Given the description of an element on the screen output the (x, y) to click on. 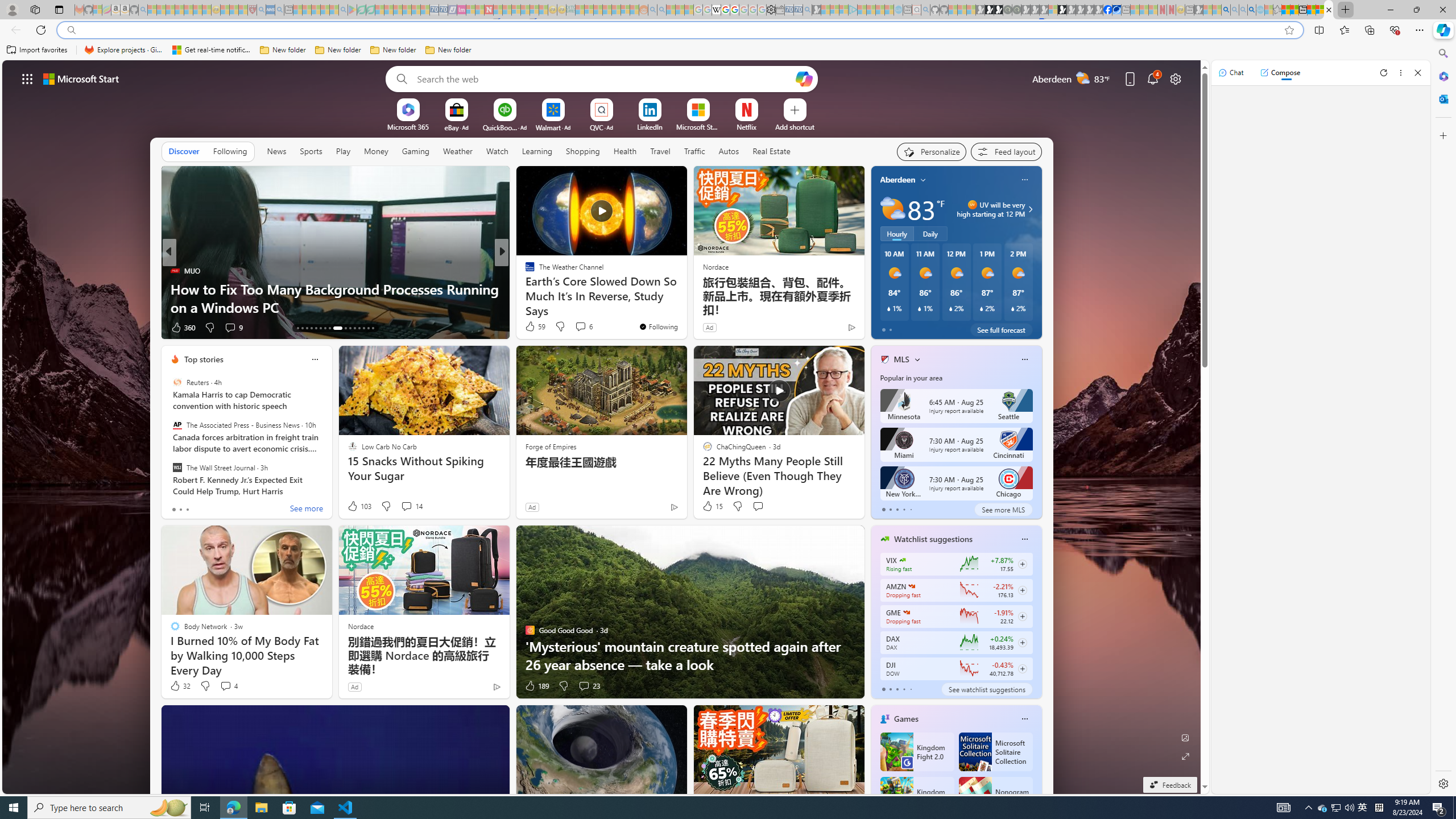
Page settings (1175, 78)
32 Like (179, 685)
google - Search - Sleeping (342, 9)
The Weather Channel - MSN - Sleeping (170, 9)
Morning Carpool (524, 270)
AutomationID: tab-21 (337, 328)
Cheap Hotels - Save70.com - Sleeping (442, 9)
Play (342, 151)
Sign in to your account - Sleeping (1052, 9)
